Given the description of an element on the screen output the (x, y) to click on. 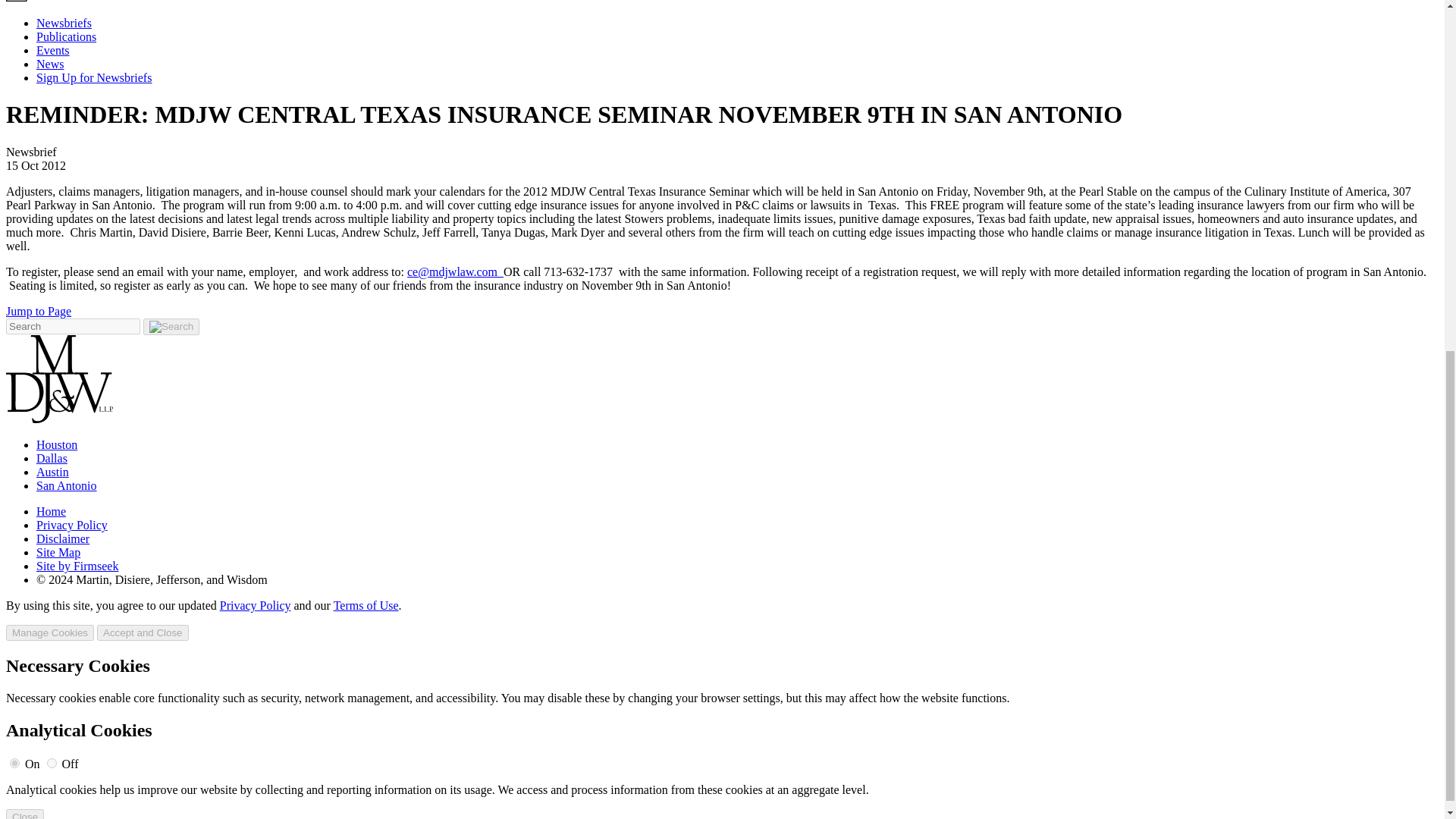
Share (19, 2)
off (51, 763)
on (15, 763)
Publications (66, 36)
Newsbriefs (63, 22)
Share (19, 0)
Share (19, 2)
Logo condensed (59, 378)
